Given the description of an element on the screen output the (x, y) to click on. 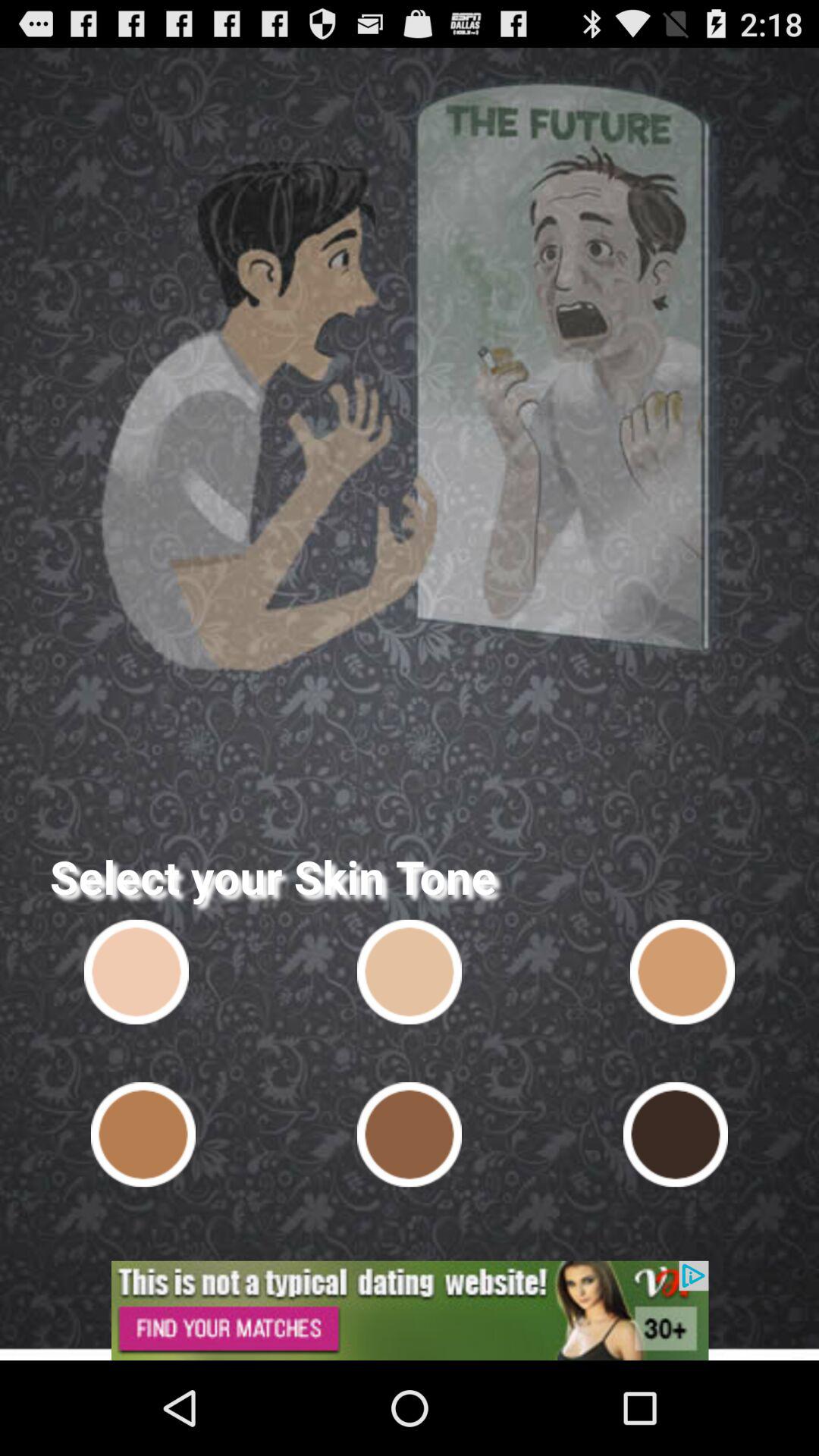
choose this (682, 971)
